Given the description of an element on the screen output the (x, y) to click on. 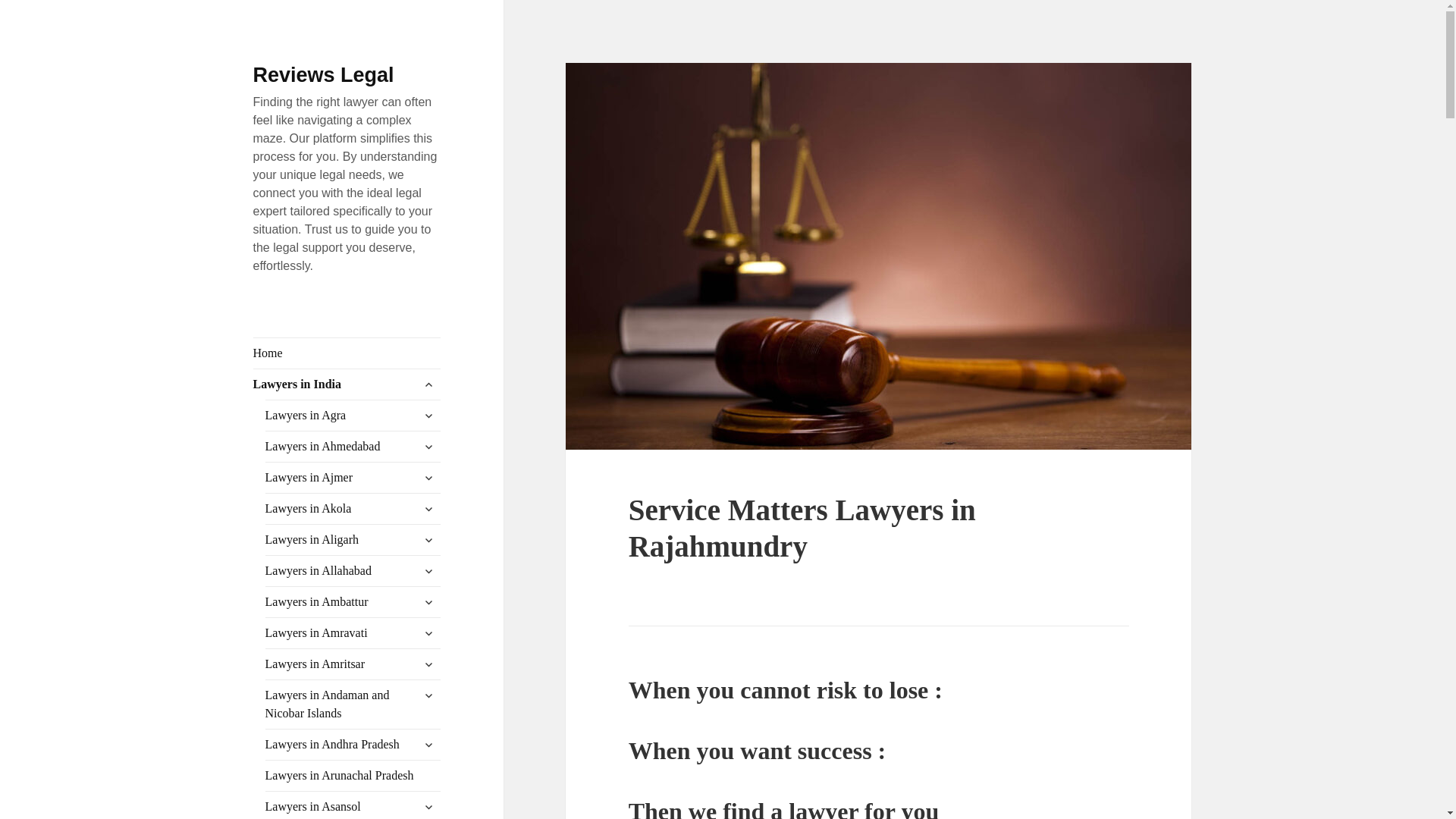
Home (347, 353)
Reviews Legal (323, 74)
expand child menu (428, 384)
expand child menu (428, 446)
expand child menu (428, 415)
Lawyers in Agra (352, 415)
Lawyers in India (347, 384)
Lawyers in Ahmedabad (352, 446)
